Given the description of an element on the screen output the (x, y) to click on. 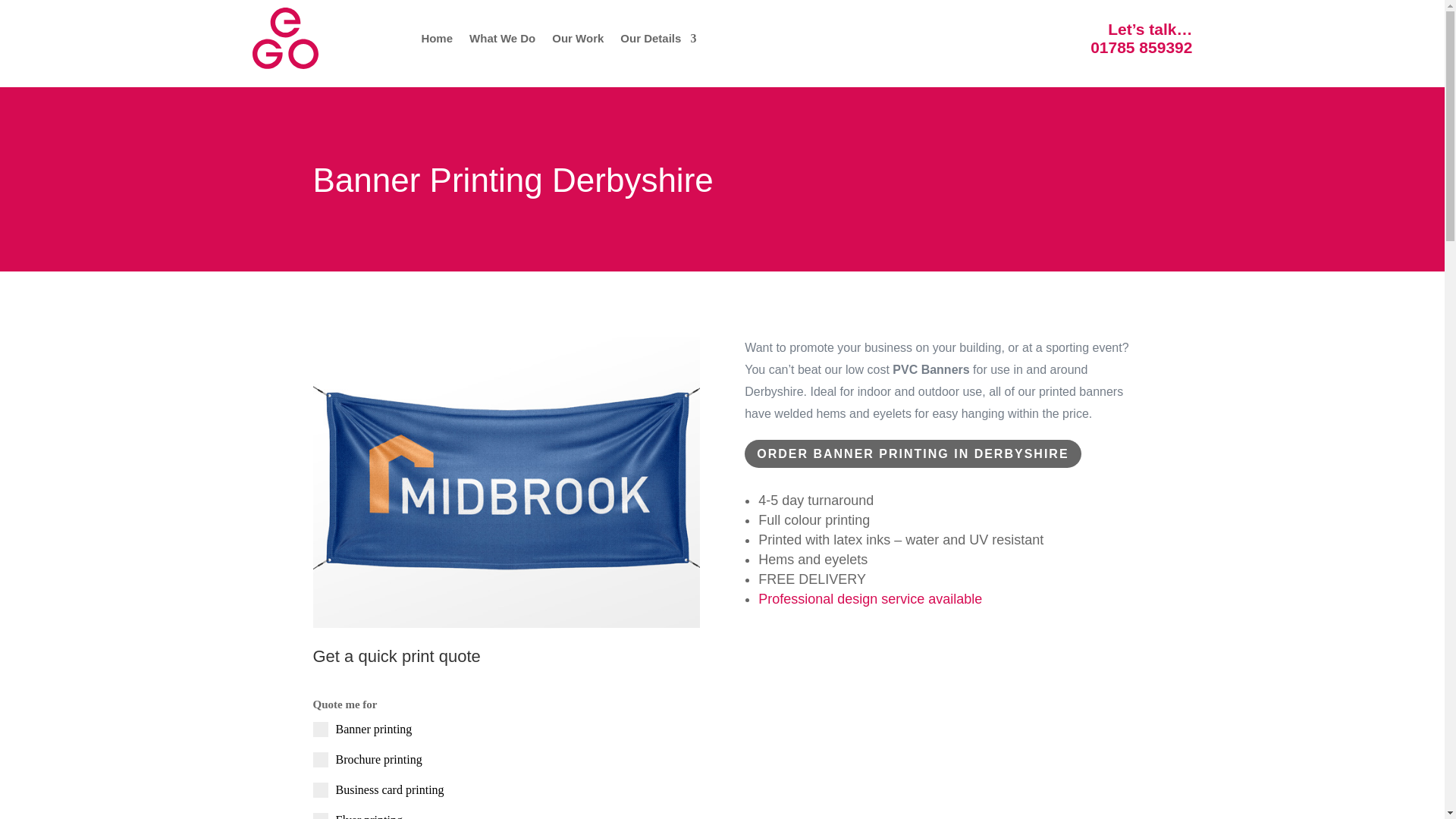
Brochure printing (722, 759)
Banner Printing (505, 482)
Banner printing (722, 729)
Business card printing (722, 789)
Our Details (657, 37)
ORDER BANNER PRINTING IN DERBYSHIRE (912, 453)
What We Do (501, 37)
